Given the description of an element on the screen output the (x, y) to click on. 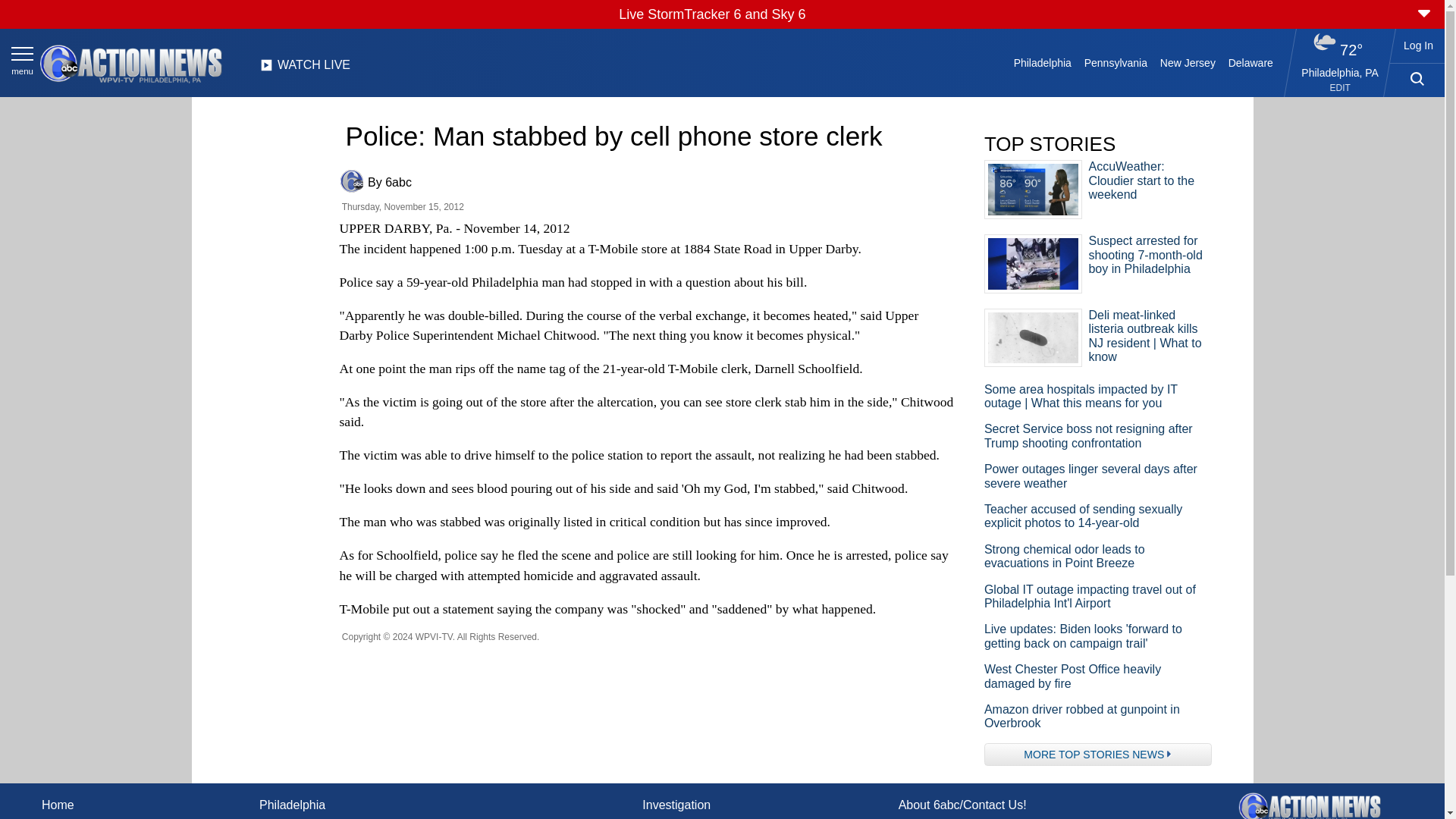
New Jersey (1187, 62)
Philadelphia (1042, 62)
Philadelphia, PA (1339, 72)
WATCH LIVE (305, 69)
Pennsylvania (1115, 62)
EDIT (1340, 87)
Delaware (1250, 62)
